Given the description of an element on the screen output the (x, y) to click on. 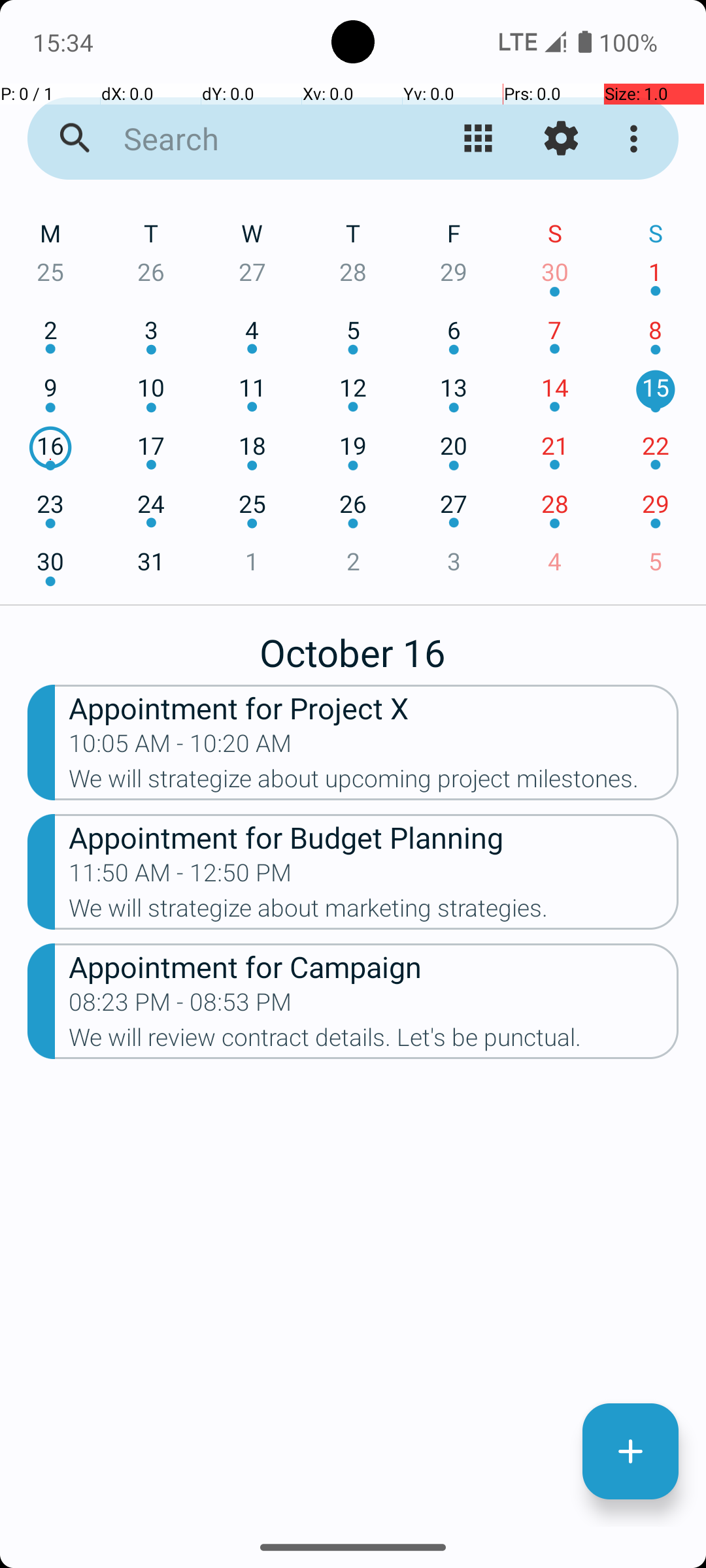
October 16 Element type: android.widget.TextView (352, 644)
10:05 AM - 10:20 AM Element type: android.widget.TextView (179, 747)
We will strategize about upcoming project milestones. Element type: android.widget.TextView (373, 782)
11:50 AM - 12:50 PM Element type: android.widget.TextView (179, 876)
We will strategize about marketing strategies. Element type: android.widget.TextView (373, 911)
08:23 PM - 08:53 PM Element type: android.widget.TextView (179, 1005)
We will review contract details. Let's be punctual. Element type: android.widget.TextView (373, 1041)
